Given the description of an element on the screen output the (x, y) to click on. 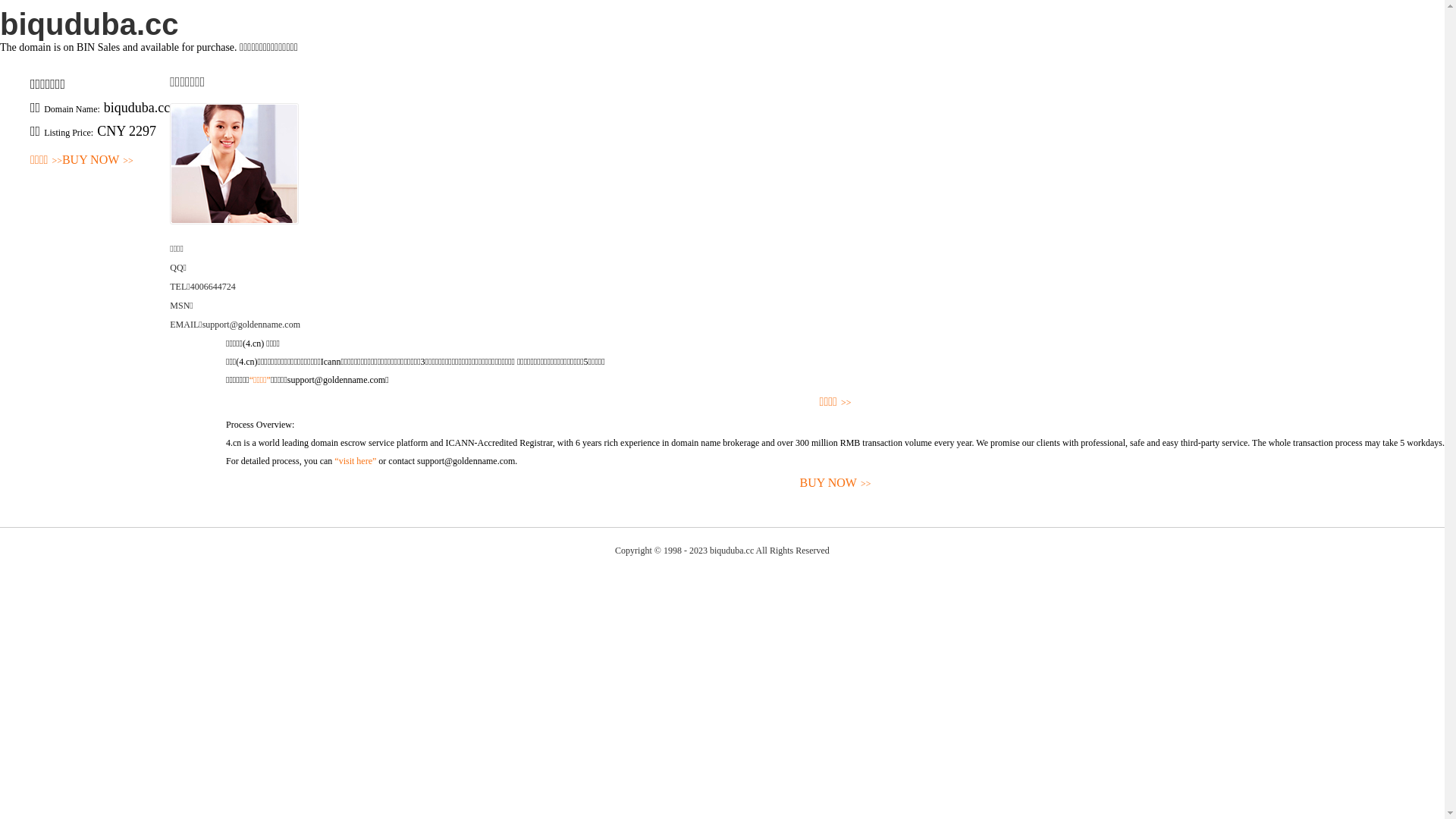
BUY NOW>> Element type: text (834, 483)
BUY NOW>> Element type: text (97, 160)
